Given the description of an element on the screen output the (x, y) to click on. 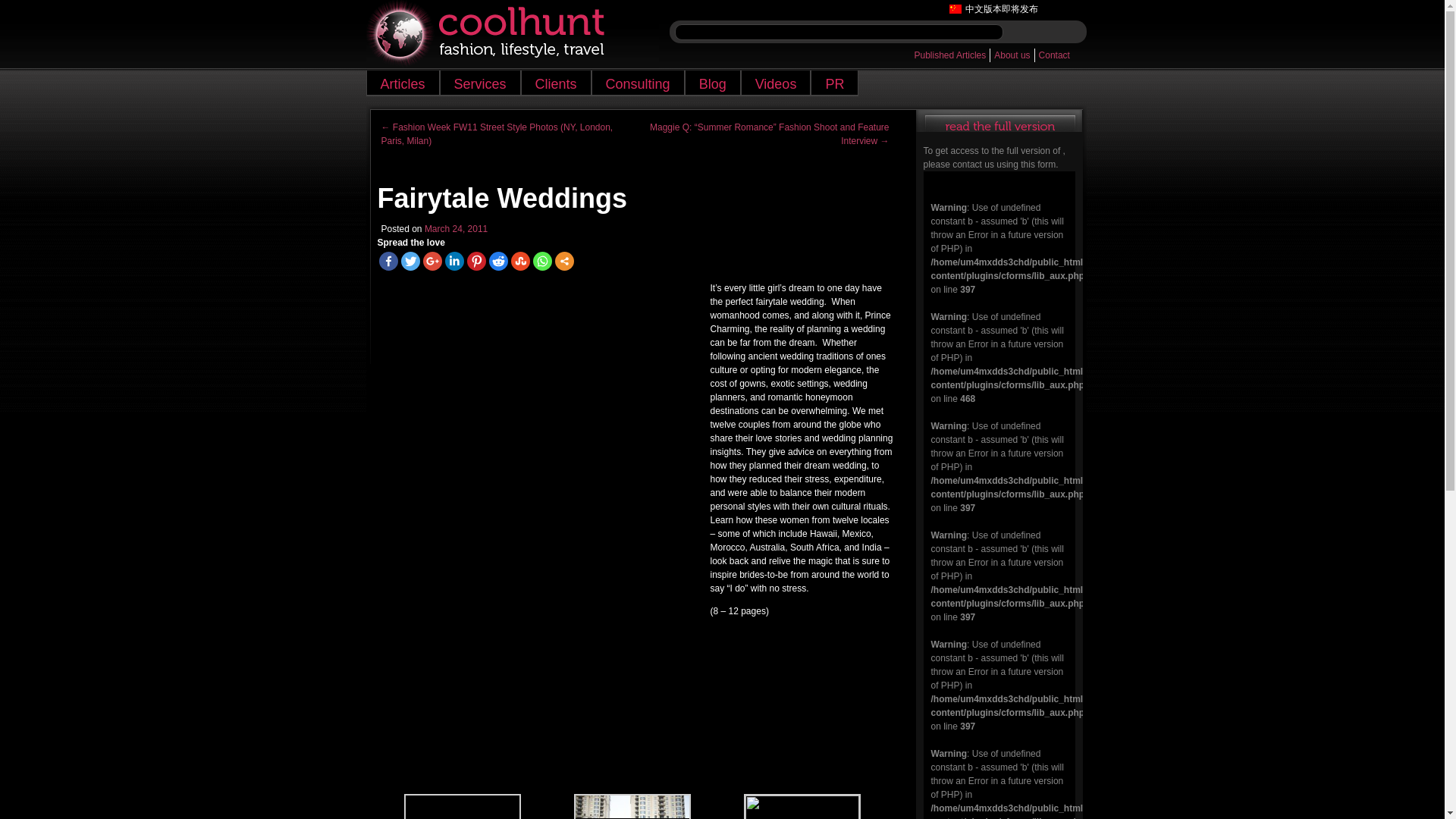
Search (1037, 31)
Services (480, 83)
Contact (1054, 54)
Skip to content (404, 79)
Twitter (409, 261)
Coolhunt (511, 33)
Linkedin (453, 261)
1:51 am (456, 228)
Published Articles (950, 54)
Skip to content (404, 79)
